Given the description of an element on the screen output the (x, y) to click on. 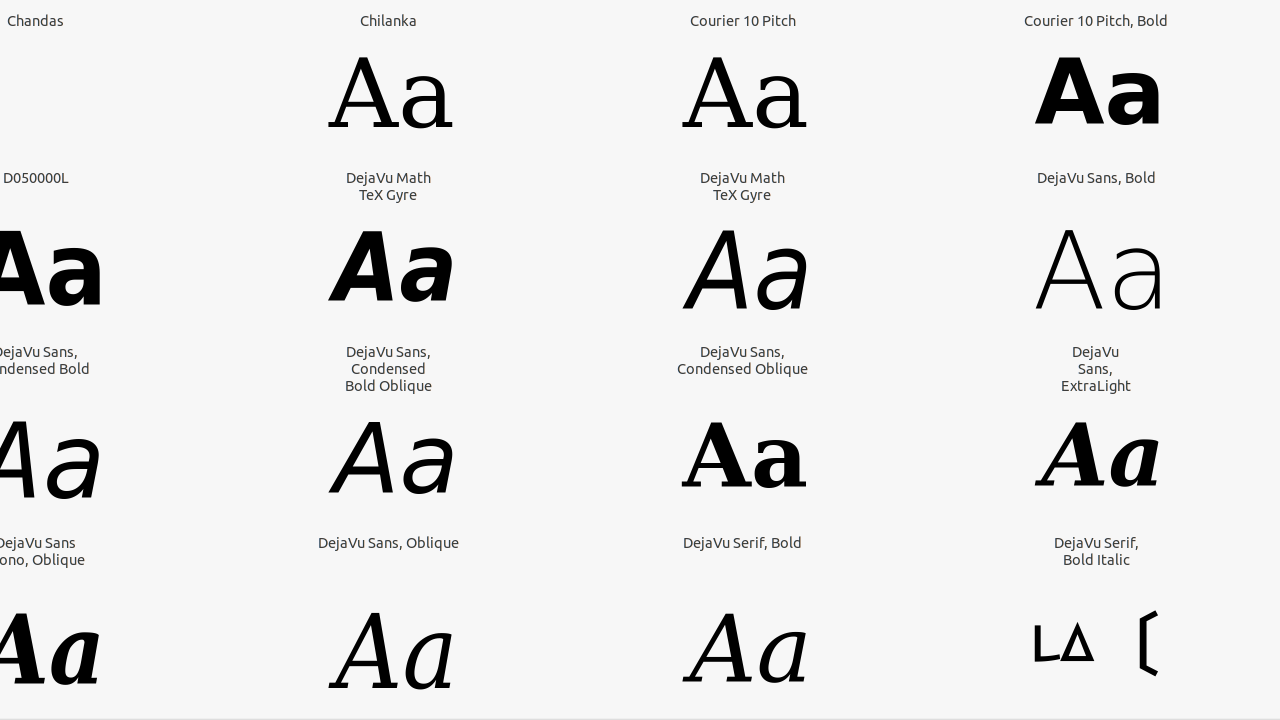
DejaVu Sans, ExtraLight Element type: label (1096, 368)
DejaVu Serif, Bold Italic Element type: label (1096, 551)
Chilanka Element type: label (388, 20)
DejaVu Sans, Condensed Oblique Element type: label (742, 360)
Courier 10 Pitch, Bold Element type: label (1096, 20)
